Given the description of an element on the screen output the (x, y) to click on. 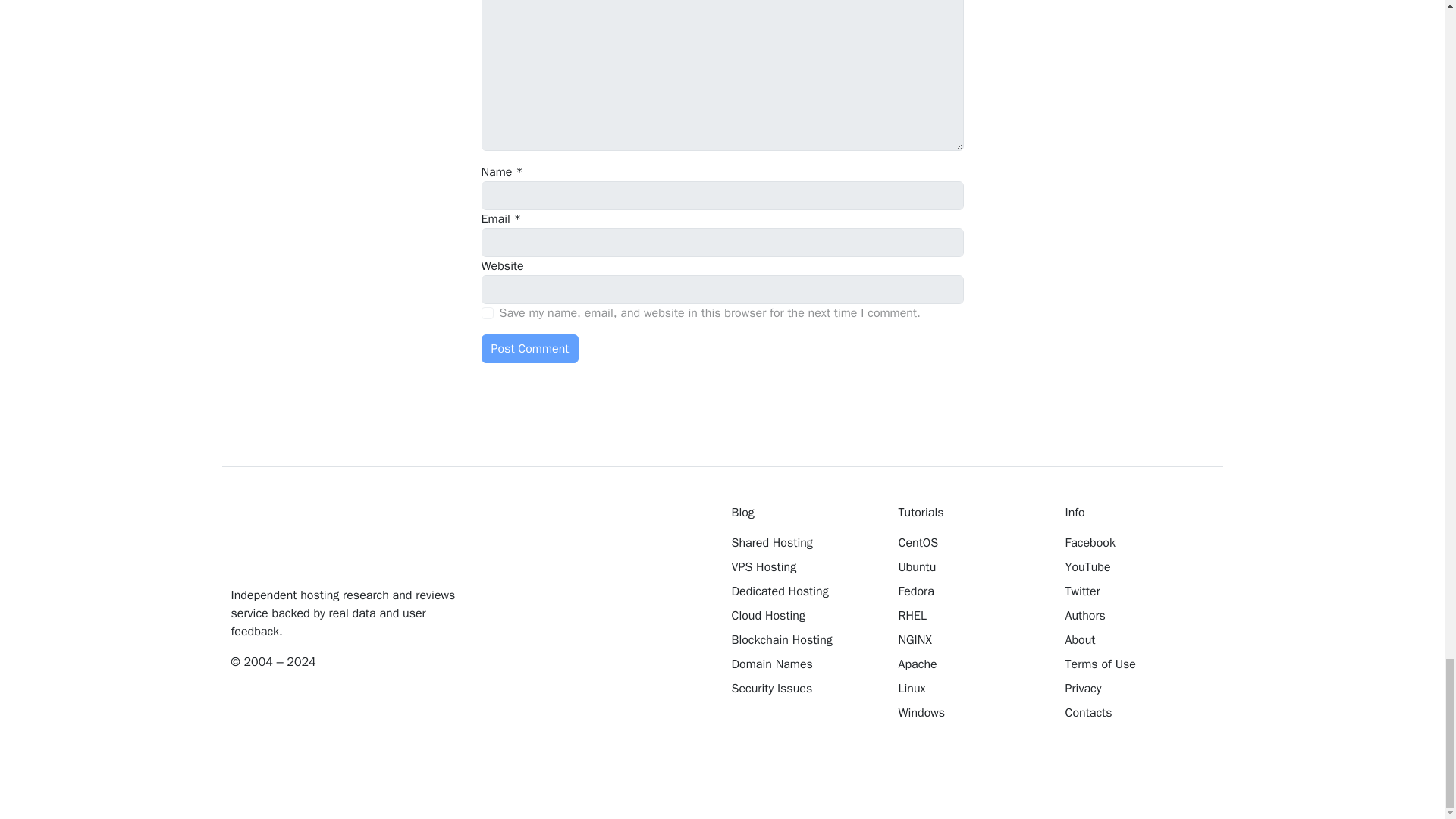
Post Comment (529, 348)
Shared Hosting (803, 542)
Post Comment (529, 348)
yes (486, 313)
